Given the description of an element on the screen output the (x, y) to click on. 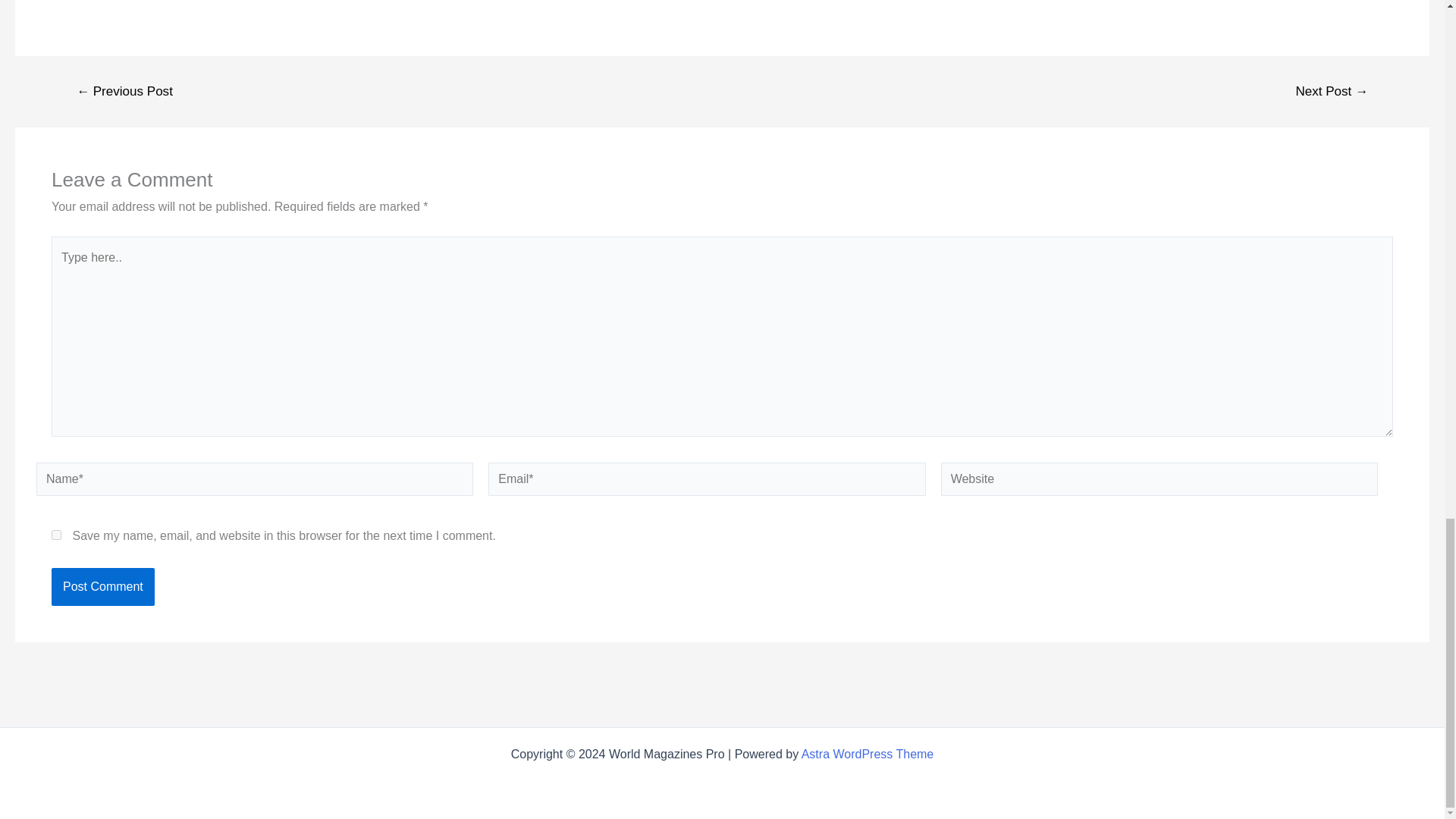
Astra WordPress Theme (868, 753)
yes (55, 534)
Your Guide to Applying for a Canada Visa as a French Citizen (1331, 91)
Post Comment (102, 587)
Post Comment (102, 587)
